Given the description of an element on the screen output the (x, y) to click on. 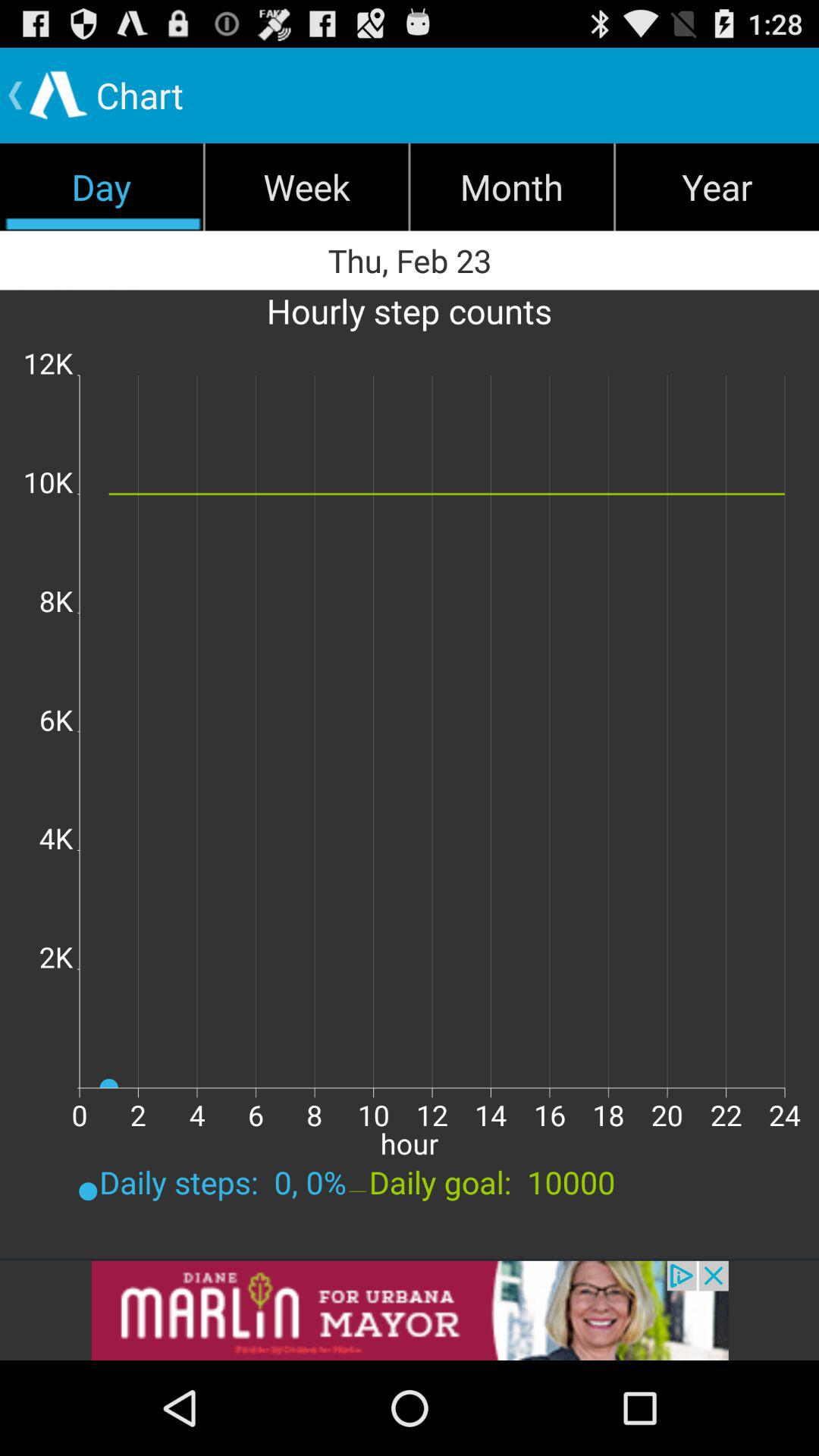
select political advertisement (409, 1310)
